Given the description of an element on the screen output the (x, y) to click on. 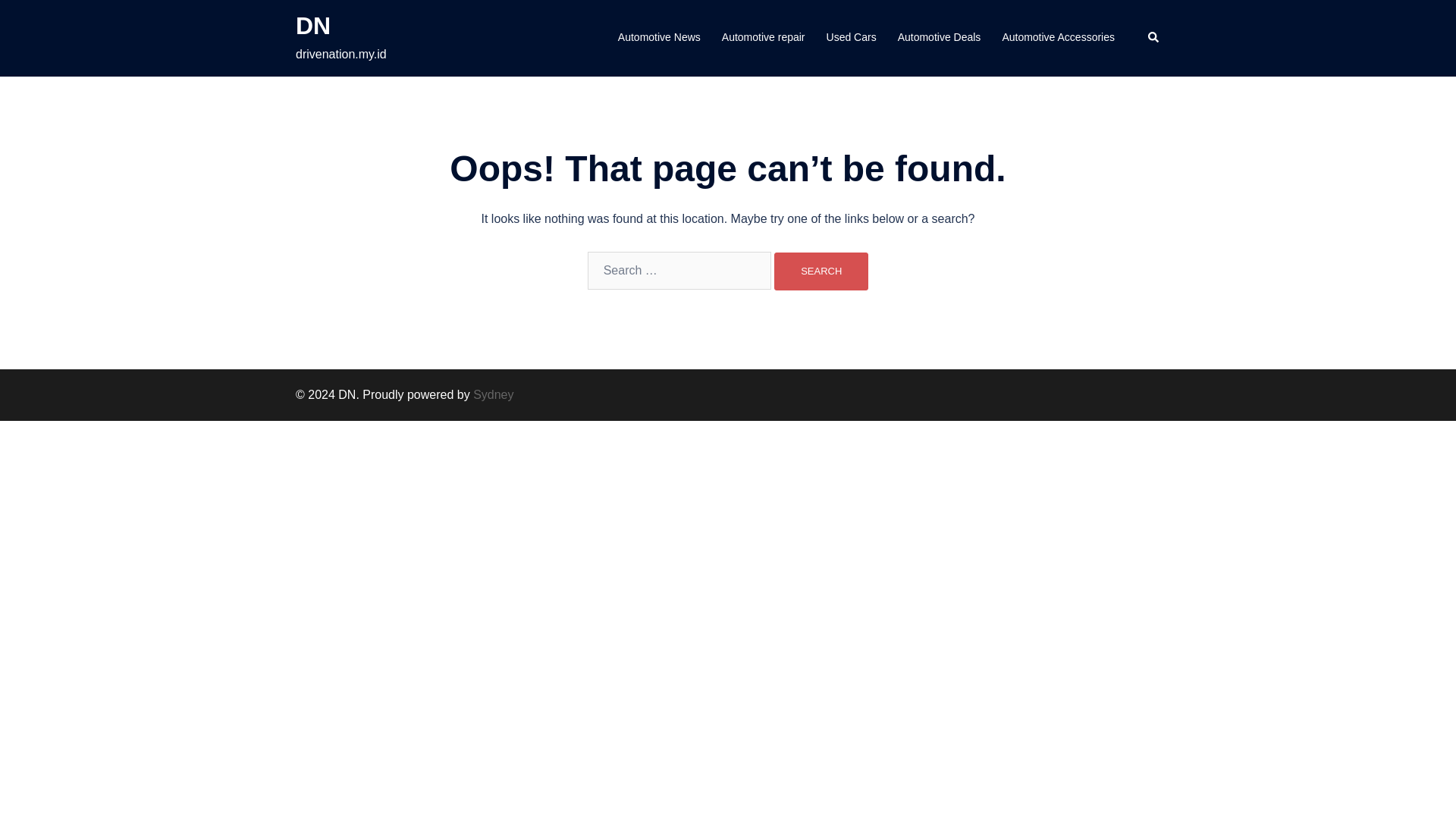
Search (820, 271)
Sydney (493, 394)
DN (312, 25)
Search (820, 271)
Used Cars (851, 37)
Automotive Deals (939, 37)
Automotive repair (763, 37)
Search (820, 271)
Search (1154, 37)
Automotive Accessories (1058, 37)
Automotive News (658, 37)
